Given the description of an element on the screen output the (x, y) to click on. 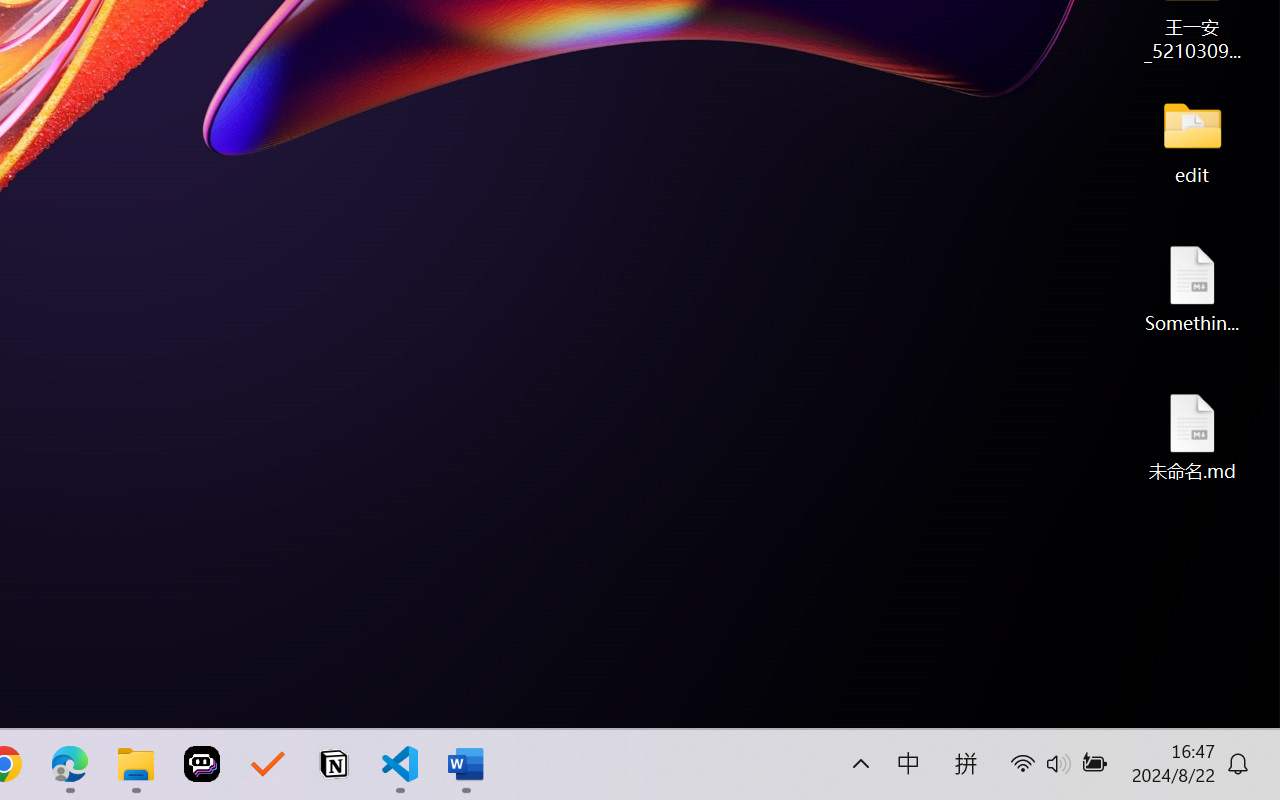
Something.md (1192, 288)
